Given the description of an element on the screen output the (x, y) to click on. 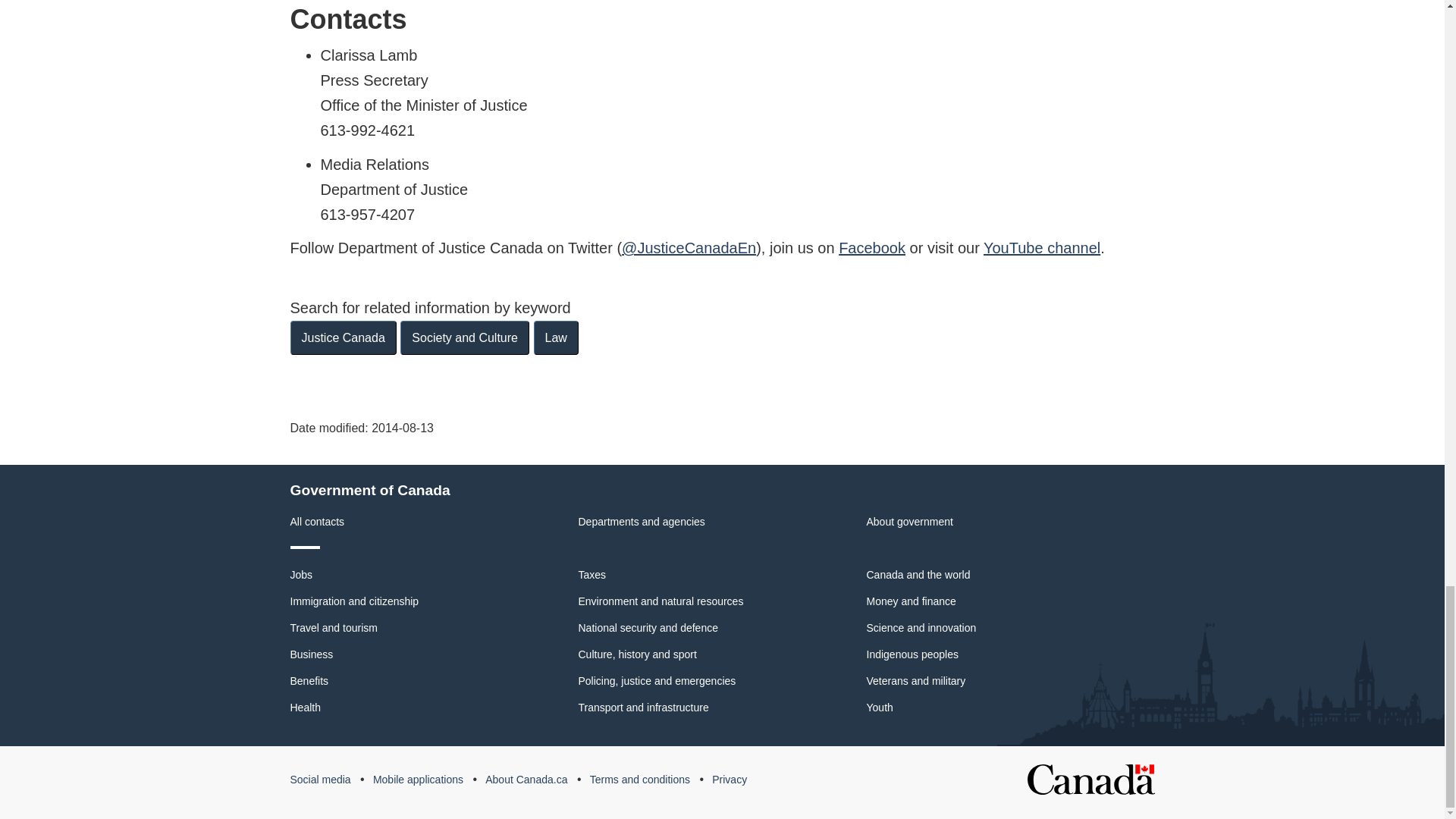
Justice Canada on Twitter (688, 247)
Society and Culture (464, 337)
About government (909, 521)
All contacts (316, 521)
Departments and agencies (641, 521)
Justice Canada (342, 337)
Law (556, 337)
YouTube channel (1042, 247)
Facebook (871, 247)
